Given the description of an element on the screen output the (x, y) to click on. 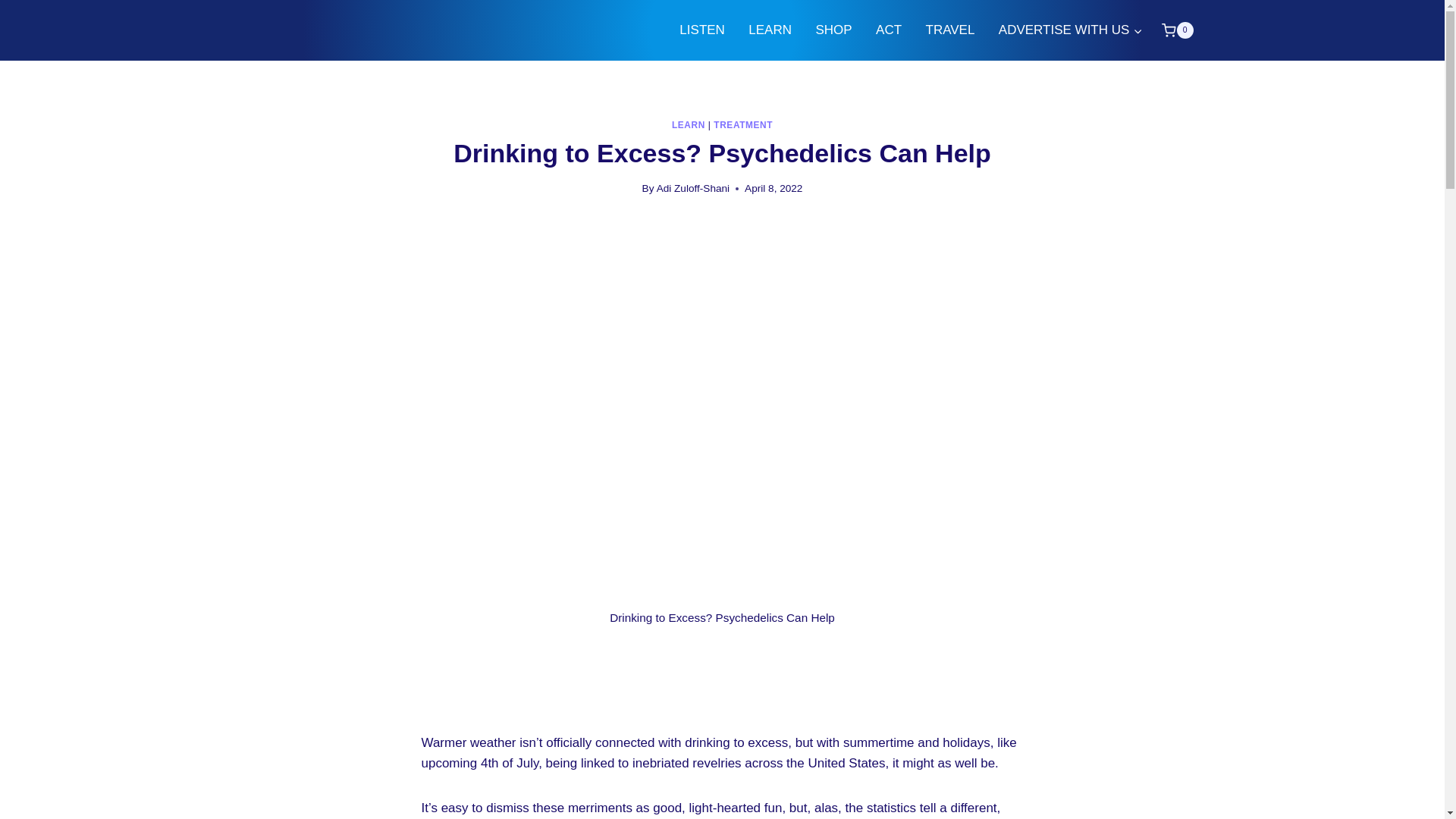
ACT (887, 30)
0 (1176, 30)
SHOP (833, 30)
ADVERTISE WITH US (1070, 30)
LEARN (687, 124)
Adi Zuloff-Shani (692, 188)
TRAVEL (950, 30)
LEARN (769, 30)
LISTEN (702, 30)
TREATMENT (743, 124)
